Given the description of an element on the screen output the (x, y) to click on. 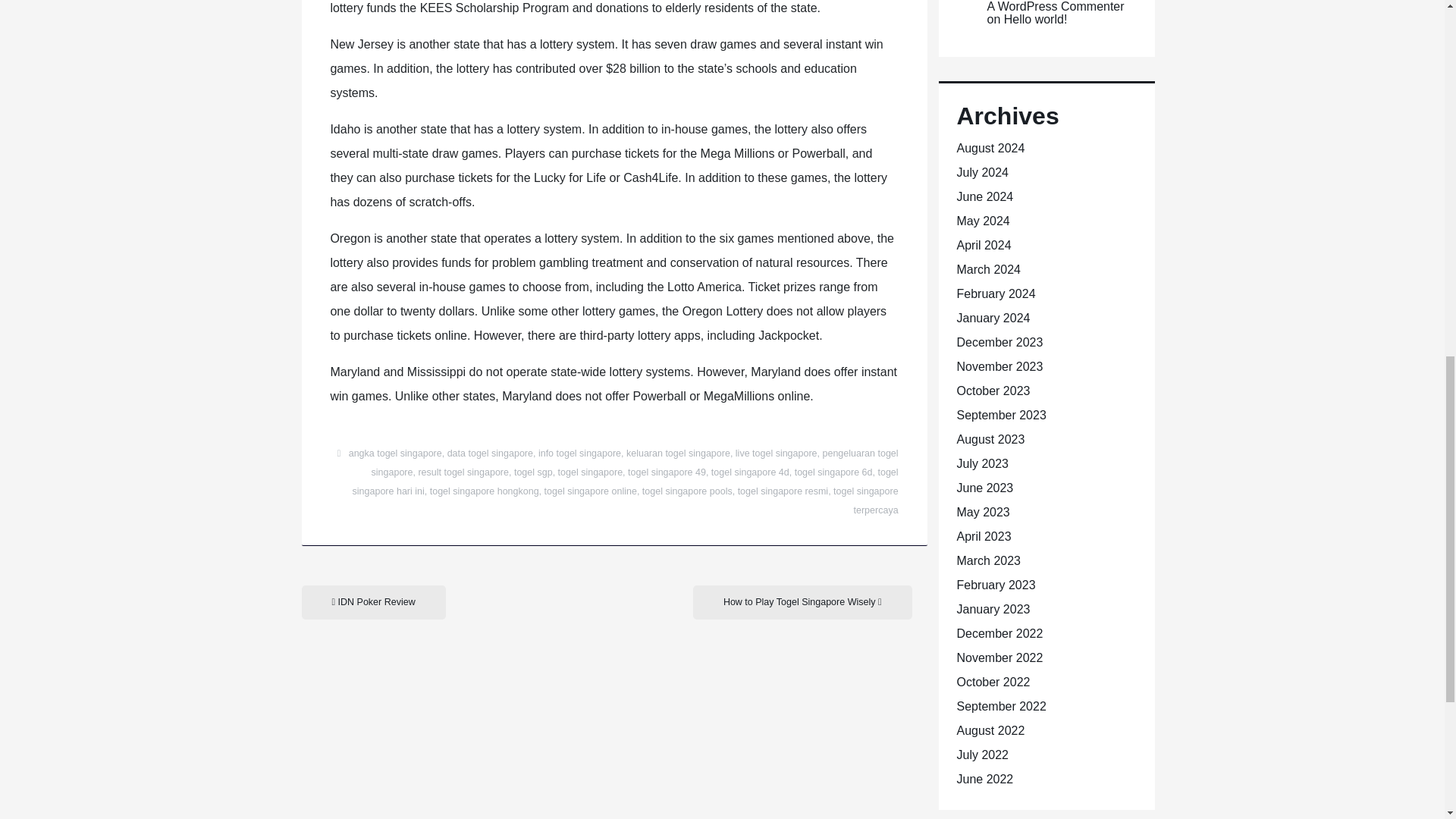
keluaran togel singapore (678, 452)
togel singapore terpercaya (865, 500)
Hello world! (1035, 19)
togel singapore 6d (833, 471)
data togel singapore (489, 452)
togel singapore hari ini (625, 481)
August 2024 (990, 147)
pengeluaran togel singapore (634, 462)
July 2024 (982, 172)
togel singapore hongkong (483, 491)
